Given the description of an element on the screen output the (x, y) to click on. 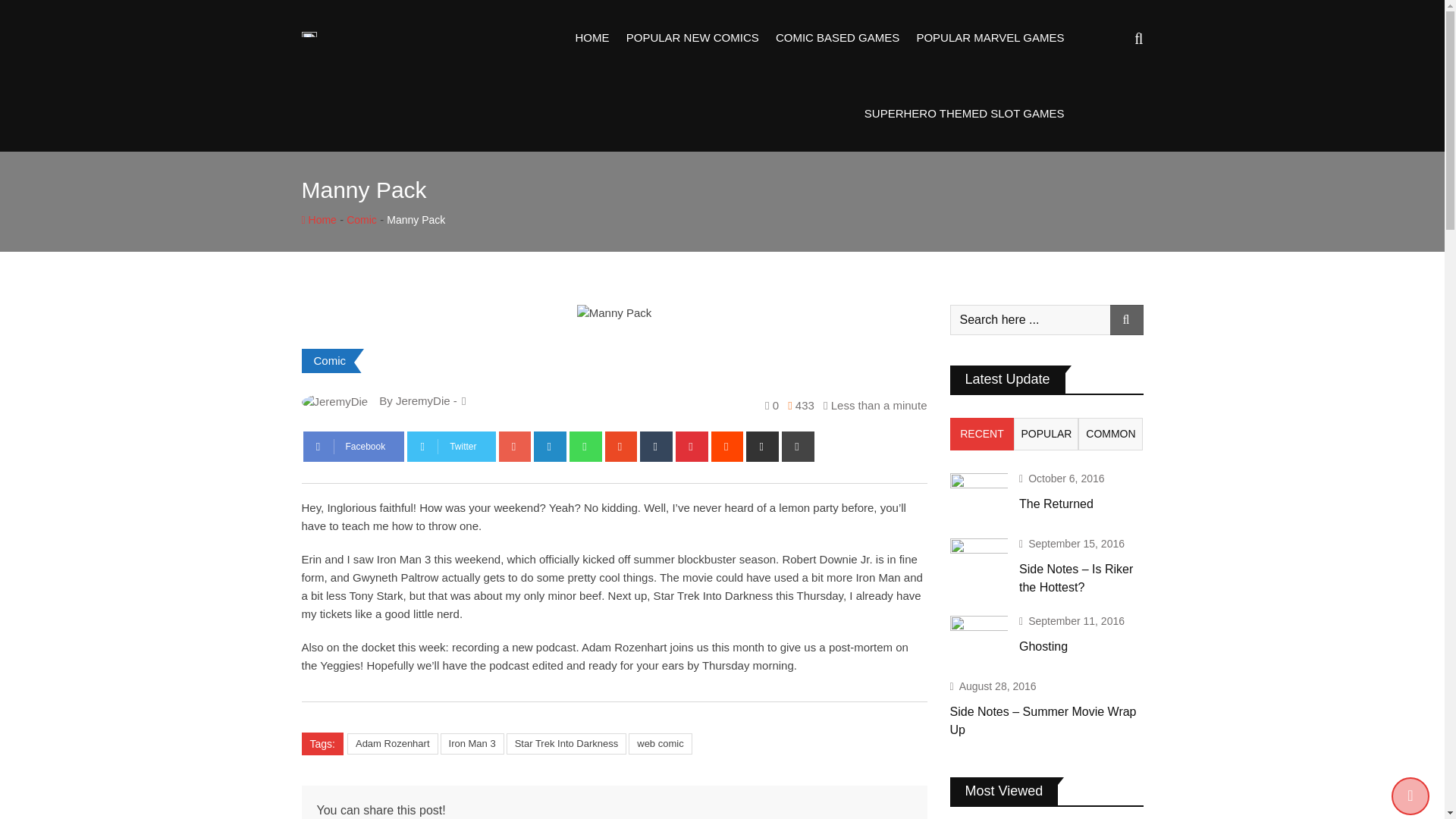
Tumblr (656, 446)
StumbleUpon (621, 446)
Twitter (451, 446)
JeremyDie (422, 400)
Ghosting (978, 638)
LinkedIn (550, 446)
Facebook (353, 446)
Adam Rozenhart (392, 743)
Reddit (727, 446)
POPULAR NEW COMICS (692, 38)
